Given the description of an element on the screen output the (x, y) to click on. 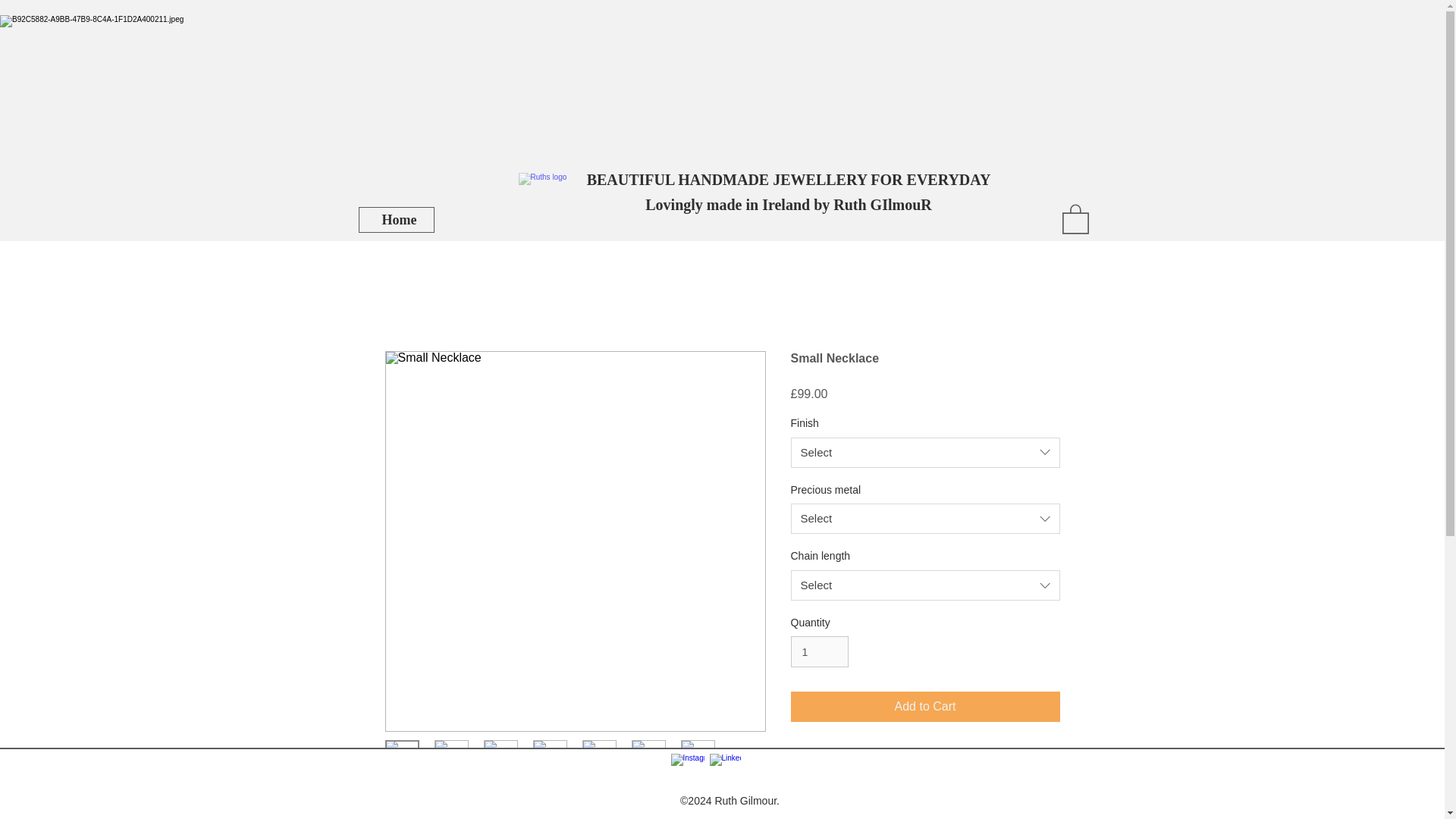
Care Instruction (924, 770)
Home (396, 219)
Select (924, 452)
Select (924, 585)
Select (924, 518)
1 (818, 651)
Add to Cart (924, 706)
